Given the description of an element on the screen output the (x, y) to click on. 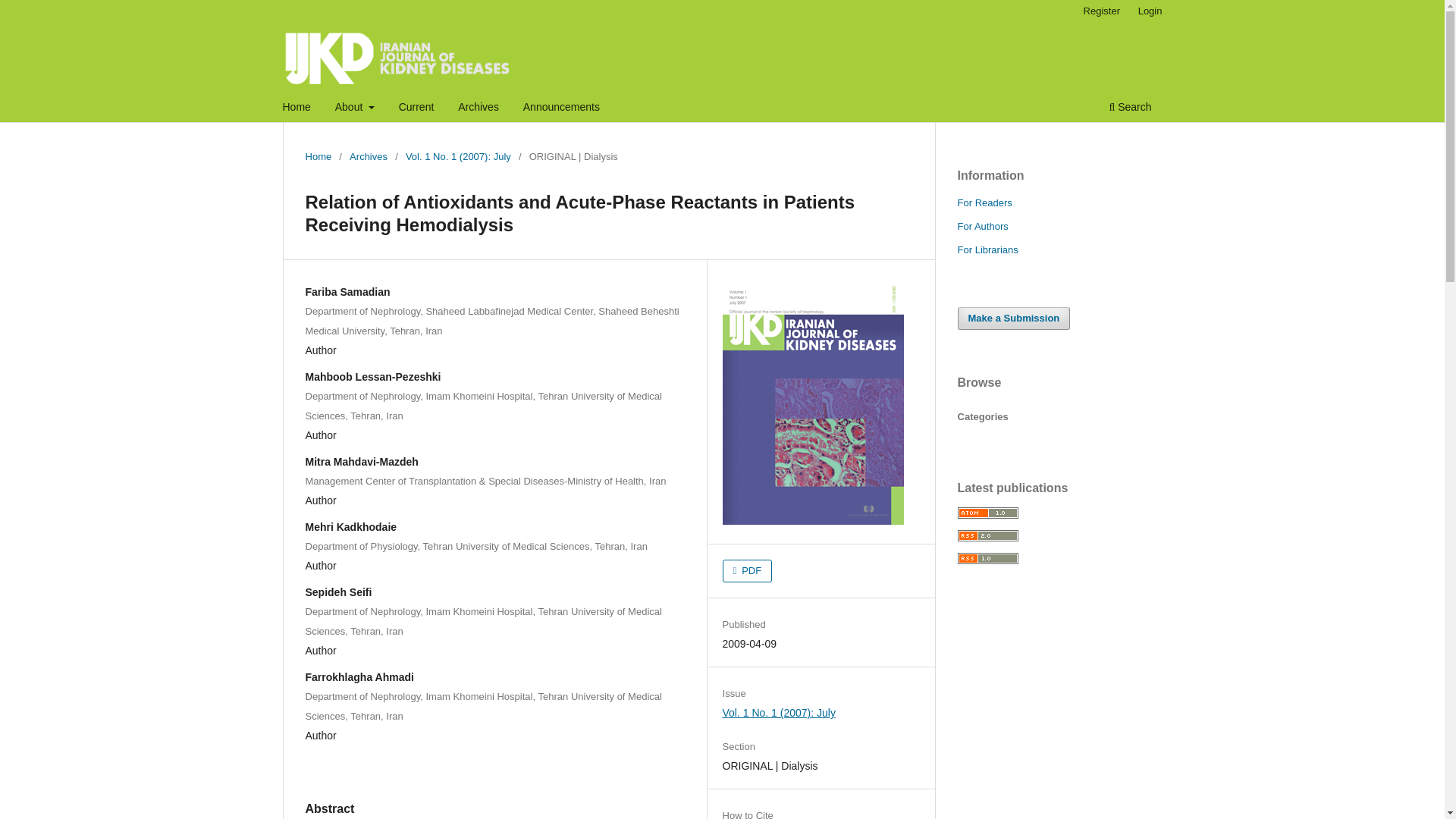
PDF (747, 570)
Home (317, 156)
Search (1129, 108)
Register (1100, 11)
Home (296, 108)
Current (416, 108)
Announcements (561, 108)
Archives (368, 156)
Archives (477, 108)
About (355, 108)
Login (1150, 11)
